Given the description of an element on the screen output the (x, y) to click on. 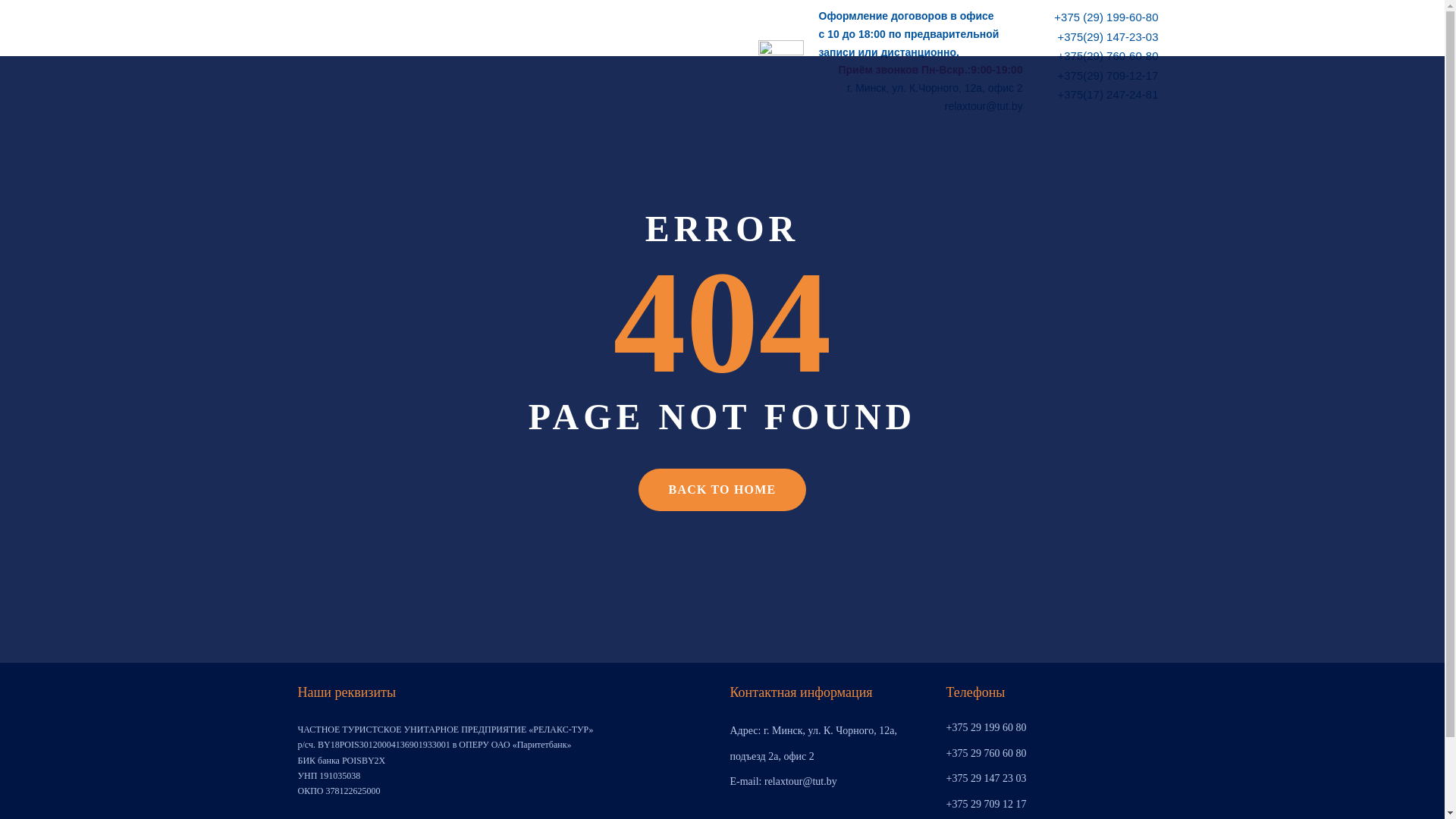
relaxtour@tut.by Element type: text (983, 106)
BACK TO HOME Element type: text (722, 489)
